Given the description of an element on the screen output the (x, y) to click on. 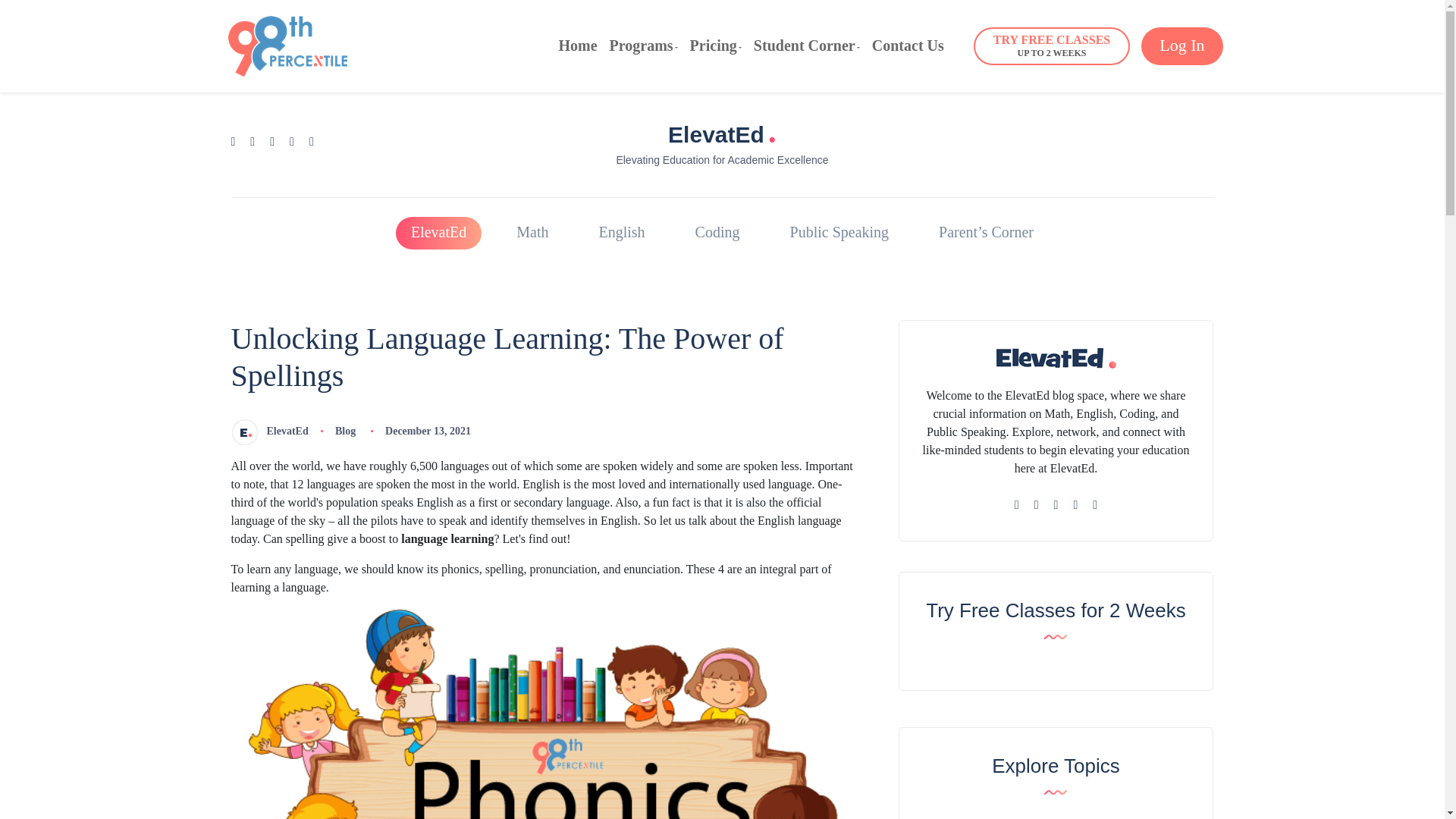
ElevatEd (438, 233)
Home (576, 45)
Home (576, 45)
Contact Us (907, 45)
Log In (1182, 46)
ElevatEd (268, 430)
Programs (644, 45)
98thPercentile (1051, 46)
Contact Us (286, 44)
